Given the description of an element on the screen output the (x, y) to click on. 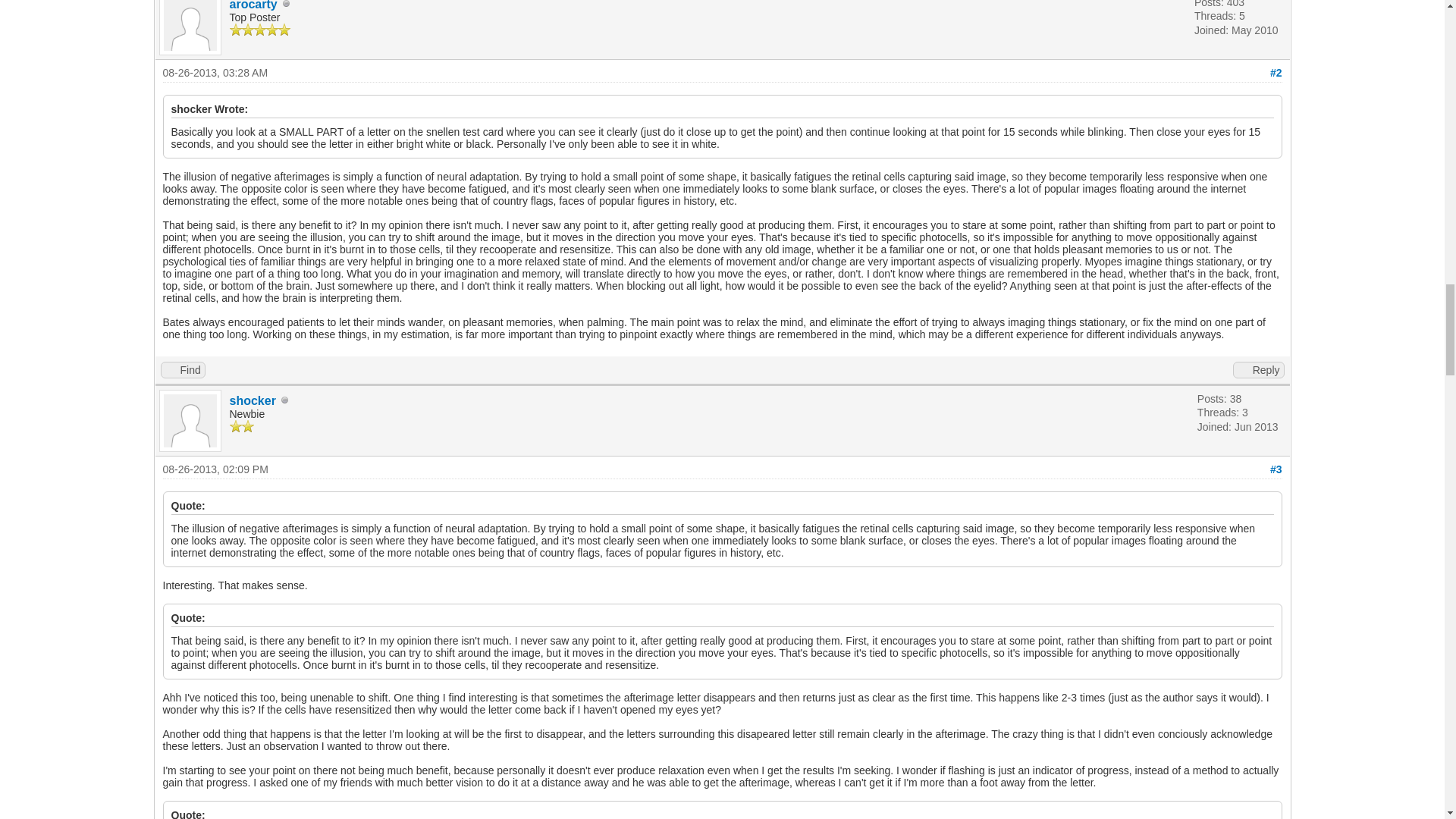
arocarty (252, 5)
Offline (285, 399)
Find all posts by this user (182, 369)
Offline (286, 4)
Quote this message in a reply (1258, 369)
